Given the description of an element on the screen output the (x, y) to click on. 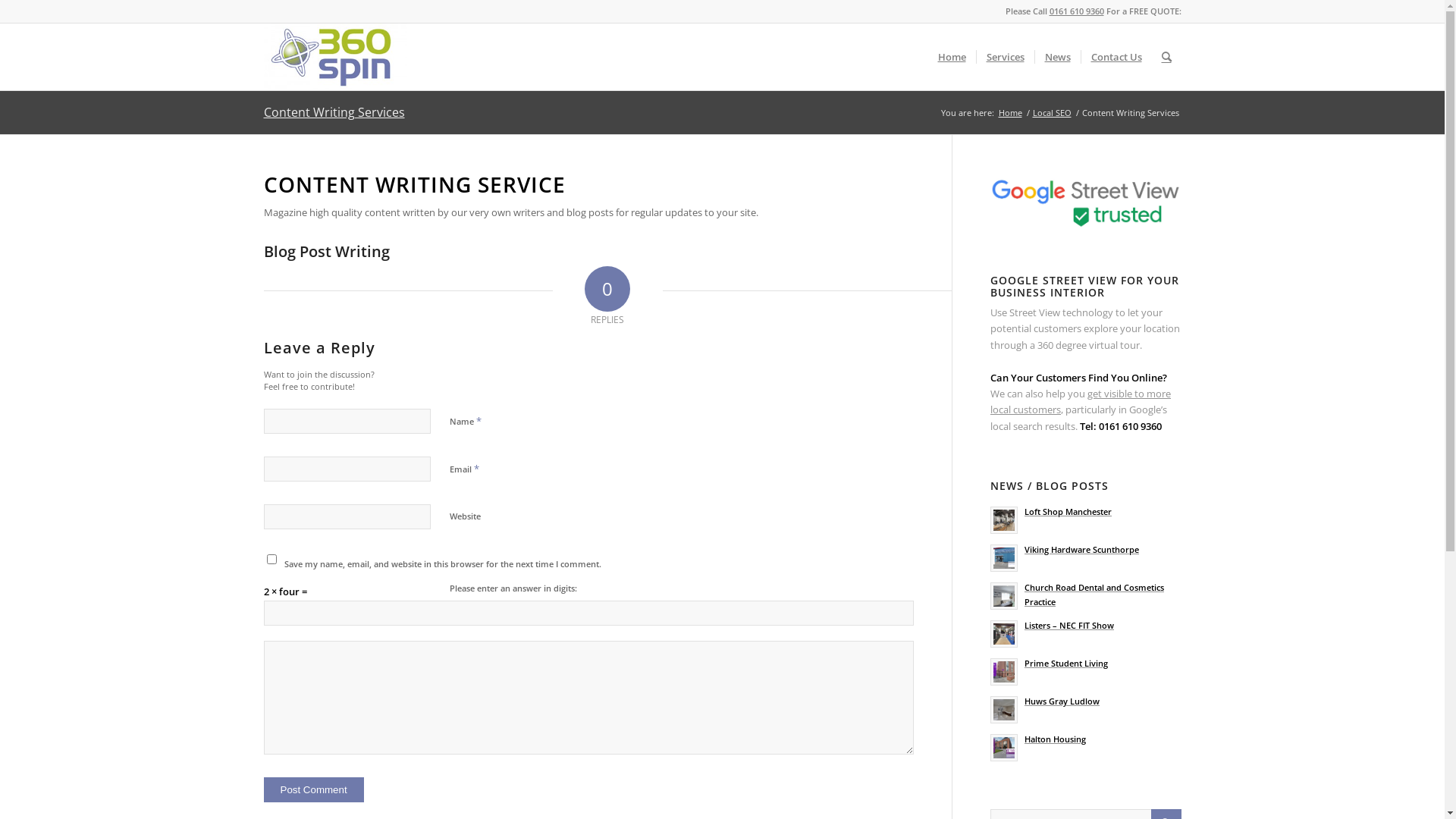
Services Element type: text (1004, 56)
Home Element type: text (951, 56)
Local SEO Element type: text (1051, 112)
Prime Student Living Element type: text (1085, 670)
News Element type: text (1057, 56)
Contact Us Element type: text (1115, 56)
Halton Housing Element type: text (1085, 746)
Loft Shop Manchester Element type: text (1085, 518)
Church Road Dental and Cosmetics Practice Element type: text (1085, 594)
Viking Hardware Scunthorpe Element type: text (1085, 556)
Post Comment Element type: text (313, 789)
get visible to more local customers Element type: text (1080, 401)
Huws Gray Ludlow Element type: text (1085, 708)
Home Element type: text (1010, 112)
Content Writing Services Element type: text (333, 111)
0161 610 9360 Element type: text (1076, 10)
